Given the description of an element on the screen output the (x, y) to click on. 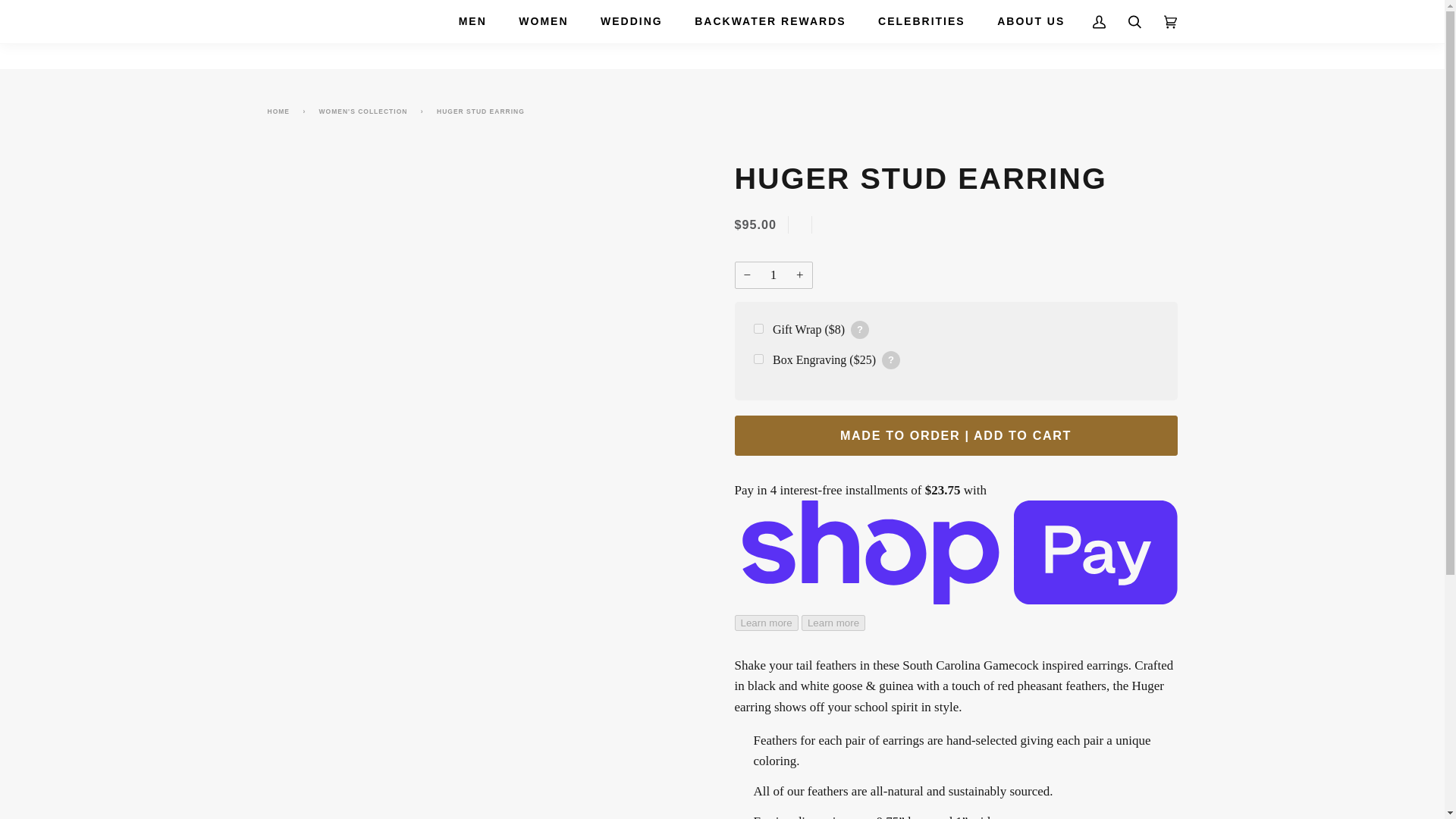
on (758, 358)
1 (772, 275)
on (758, 328)
MEN (472, 21)
Back to the frontpage (280, 111)
WOMEN (543, 21)
